Given the description of an element on the screen output the (x, y) to click on. 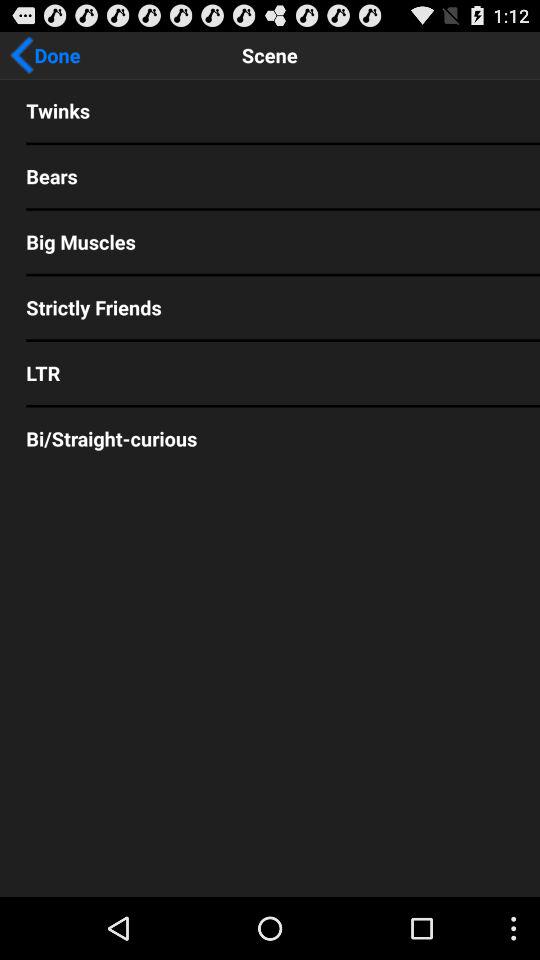
scroll to the big muscles icon (270, 241)
